Given the description of an element on the screen output the (x, y) to click on. 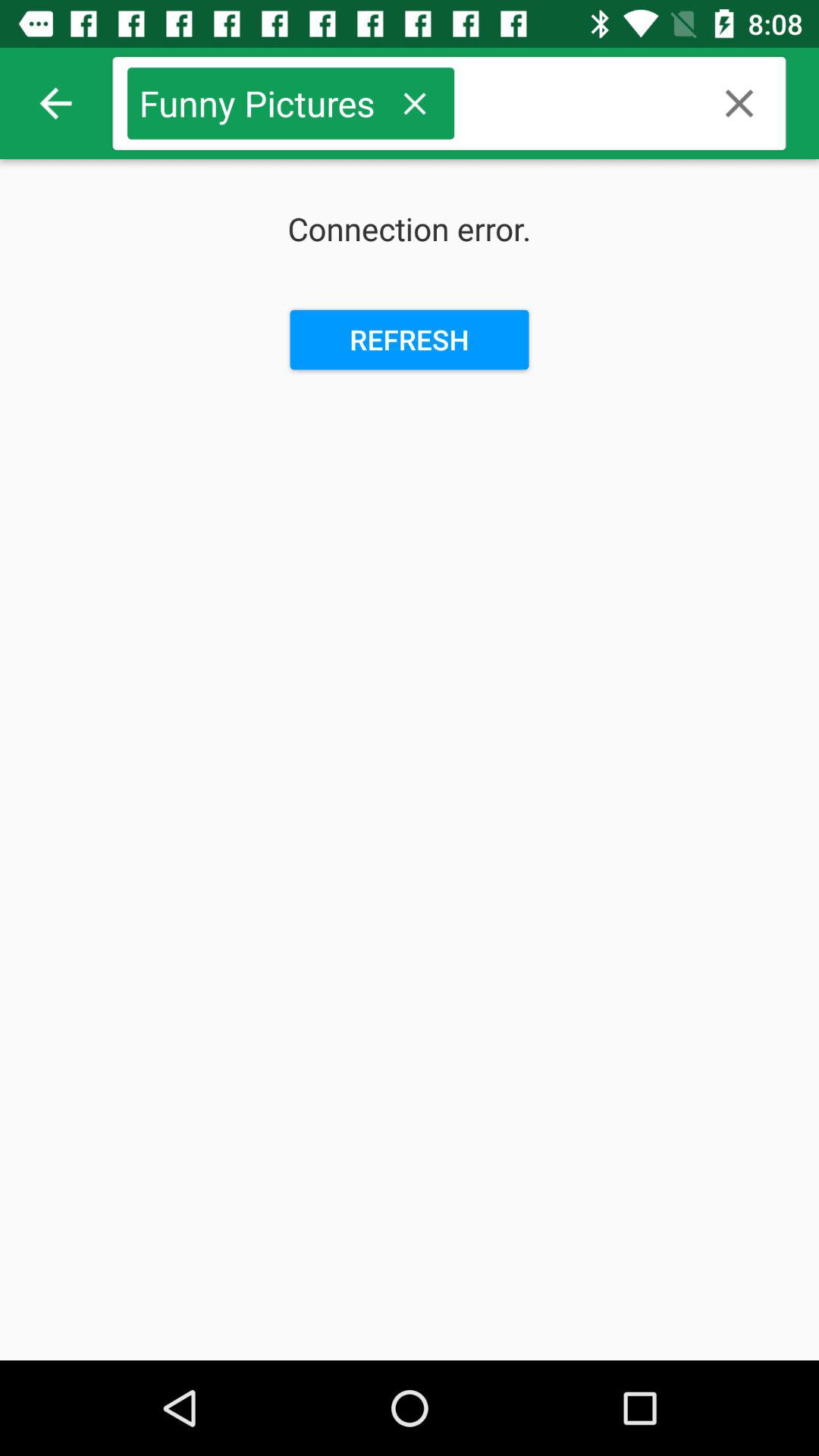
clear search engine (739, 103)
